Given the description of an element on the screen output the (x, y) to click on. 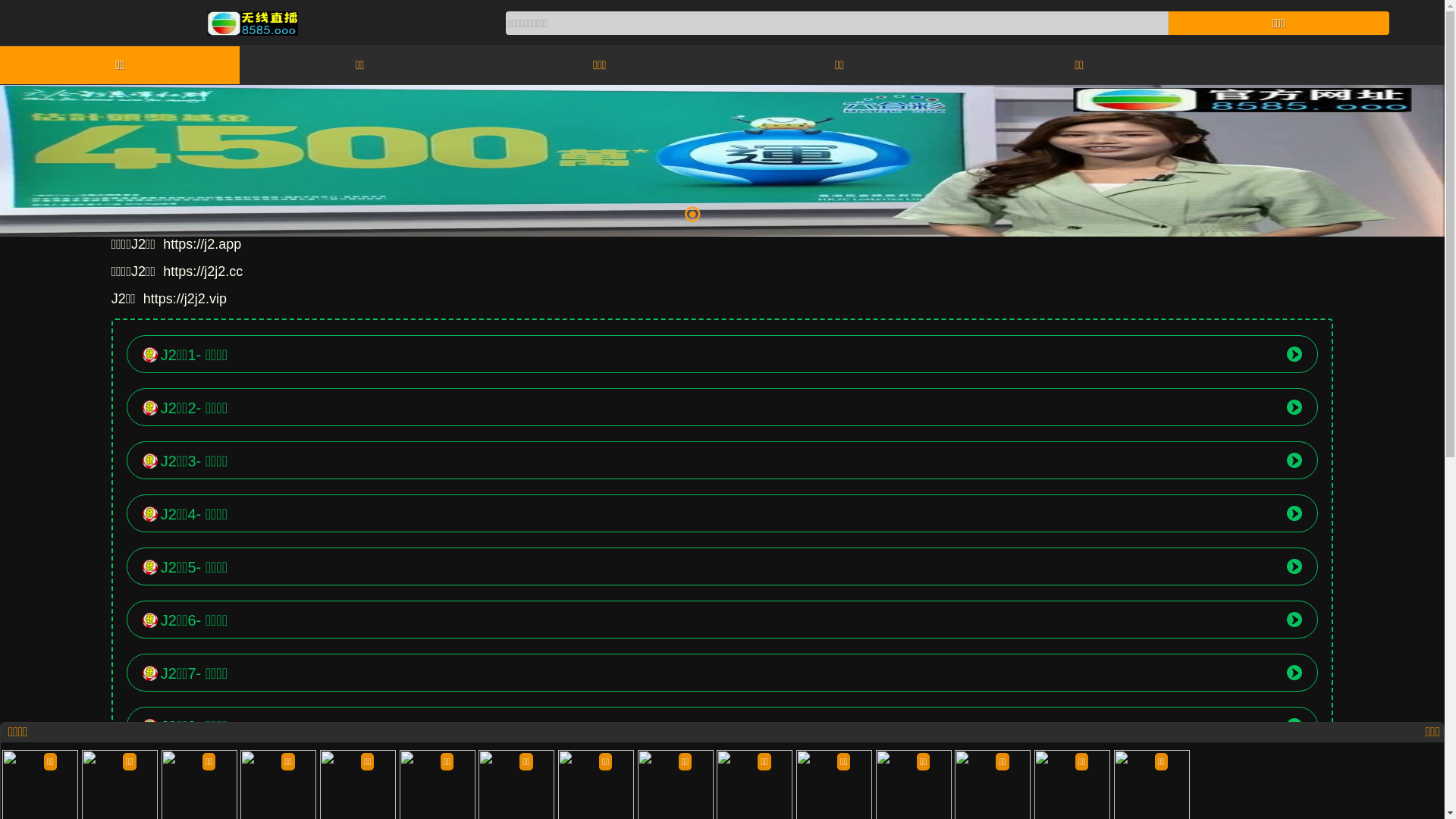
1 Element type: text (691, 214)
